Given the description of an element on the screen output the (x, y) to click on. 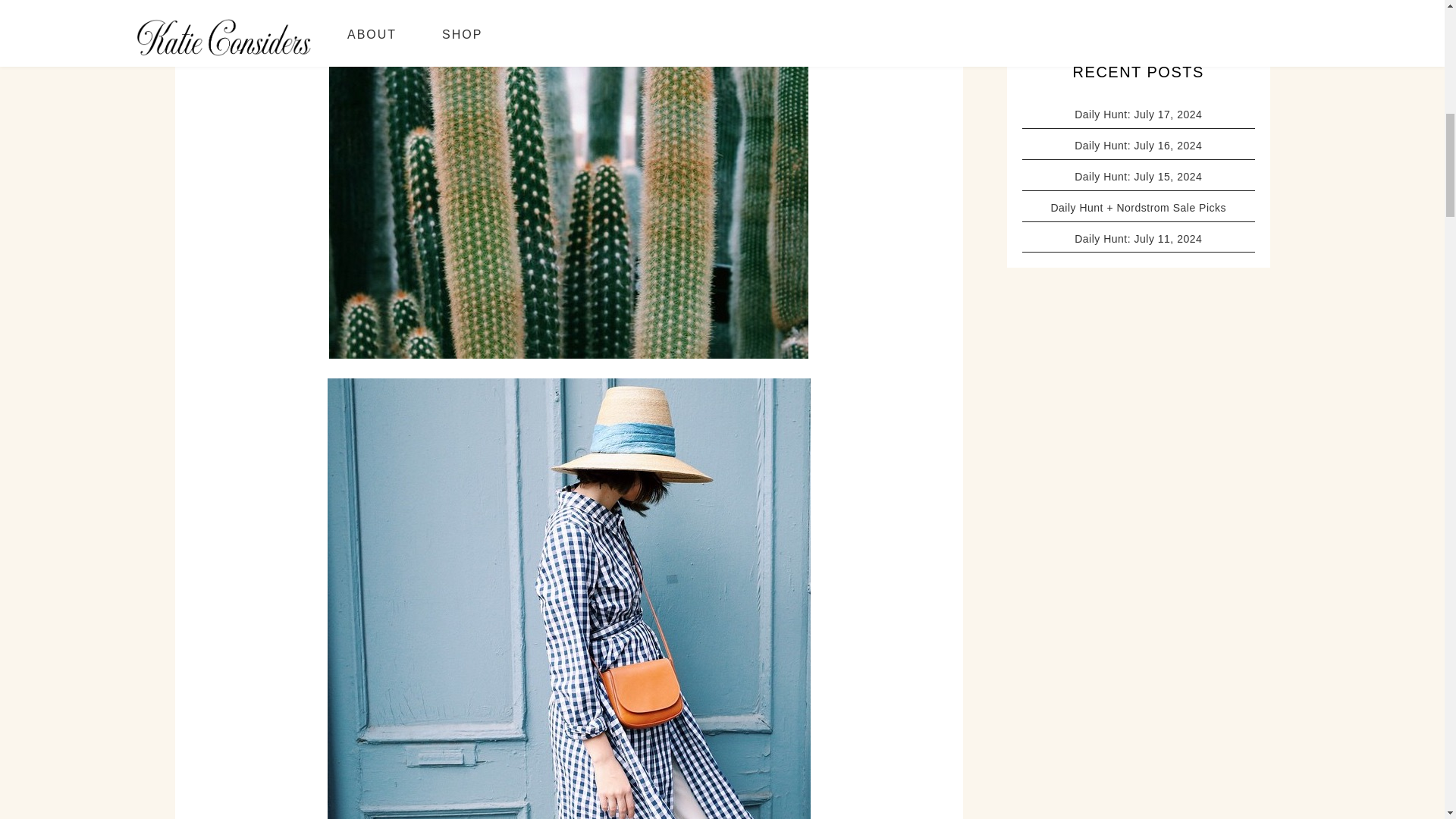
EXPLORE ALL OF KATIE'S FASHION AND DECOR FAVORITES (1138, 16)
